Given the description of an element on the screen output the (x, y) to click on. 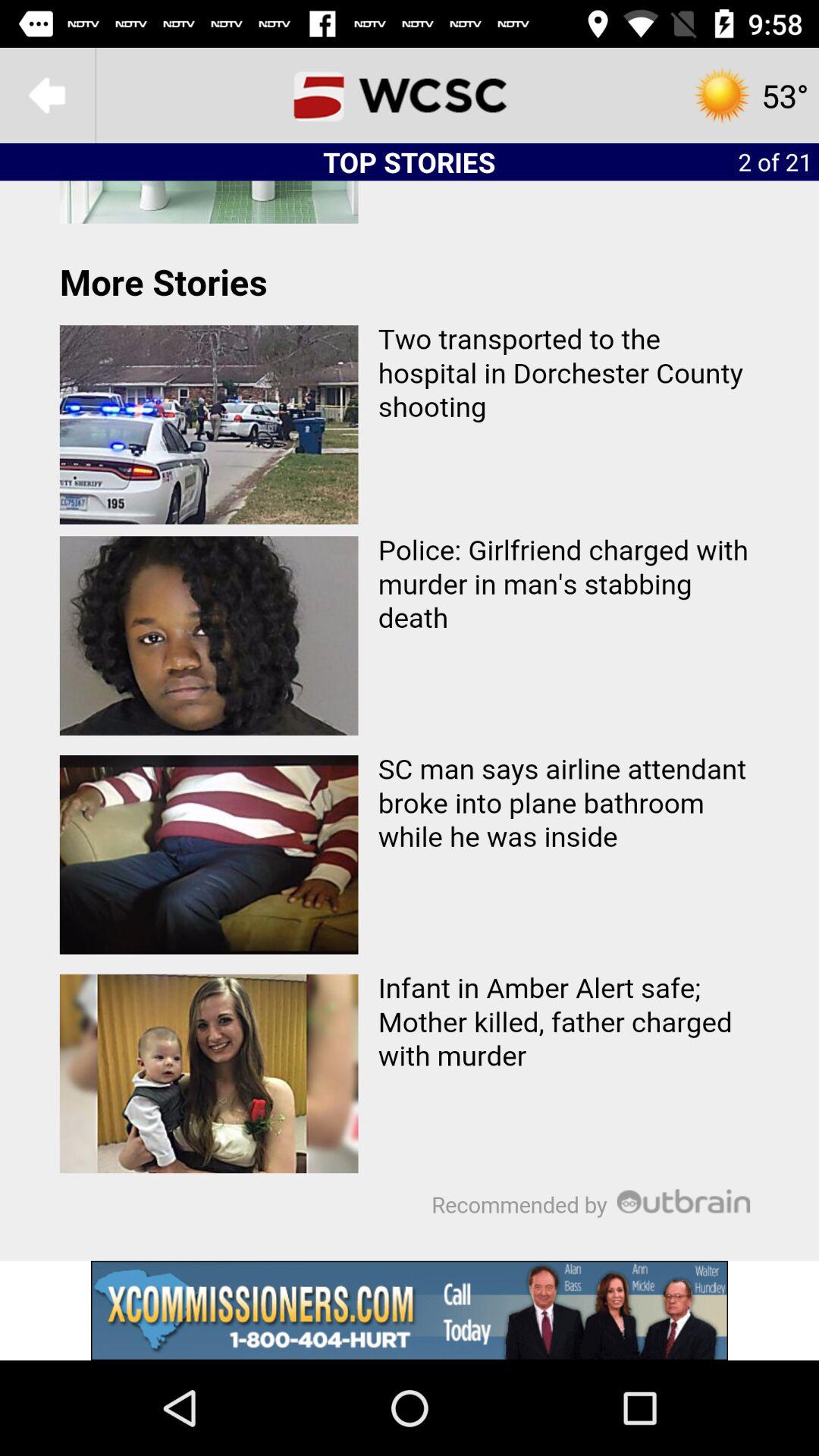
select articles (409, 720)
